Given the description of an element on the screen output the (x, y) to click on. 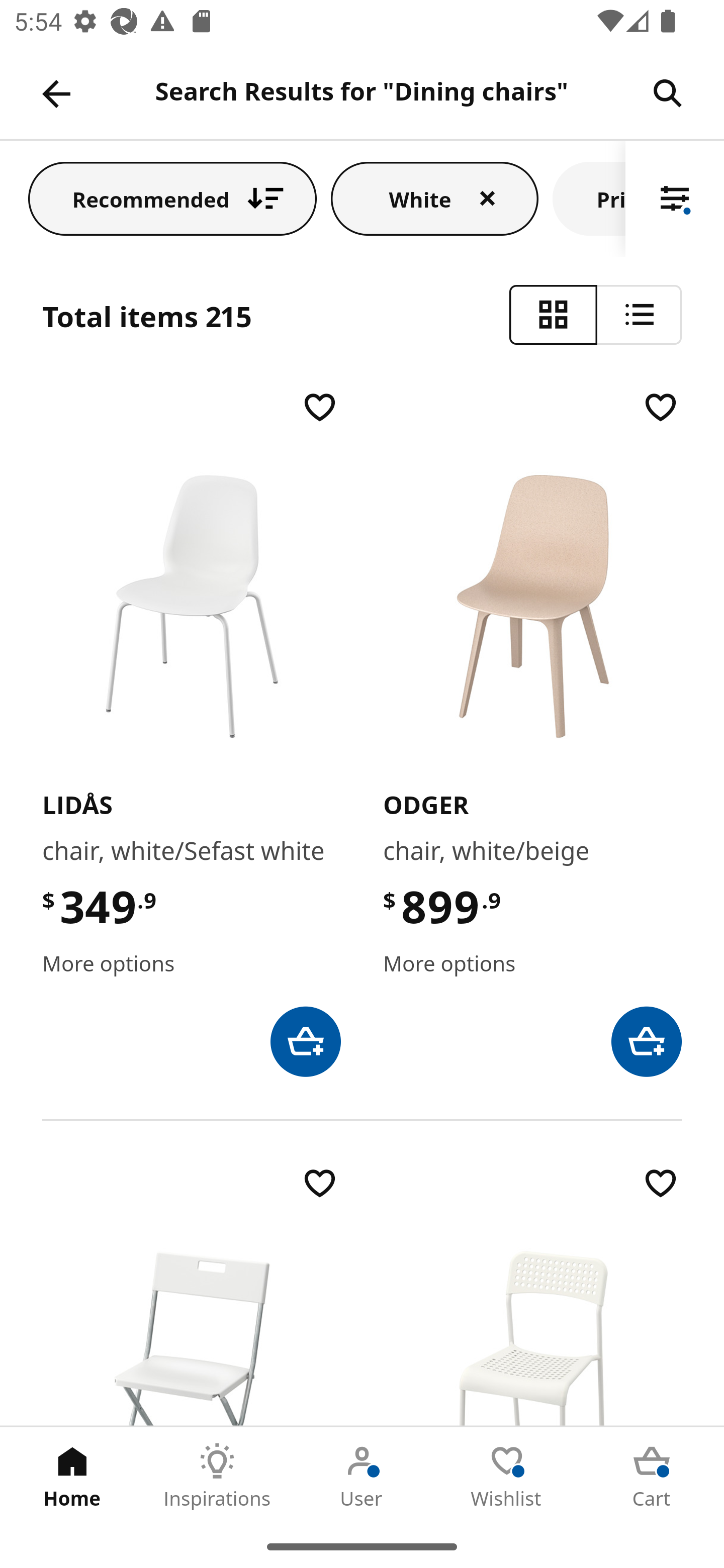
Recommended (172, 198)
White (434, 198)
​A​D​D​E​
chair, white
$
99
.9
More options (532, 1294)
Home
Tab 1 of 5 (72, 1476)
Inspirations
Tab 2 of 5 (216, 1476)
User
Tab 3 of 5 (361, 1476)
Wishlist
Tab 4 of 5 (506, 1476)
Cart
Tab 5 of 5 (651, 1476)
